Given the description of an element on the screen output the (x, y) to click on. 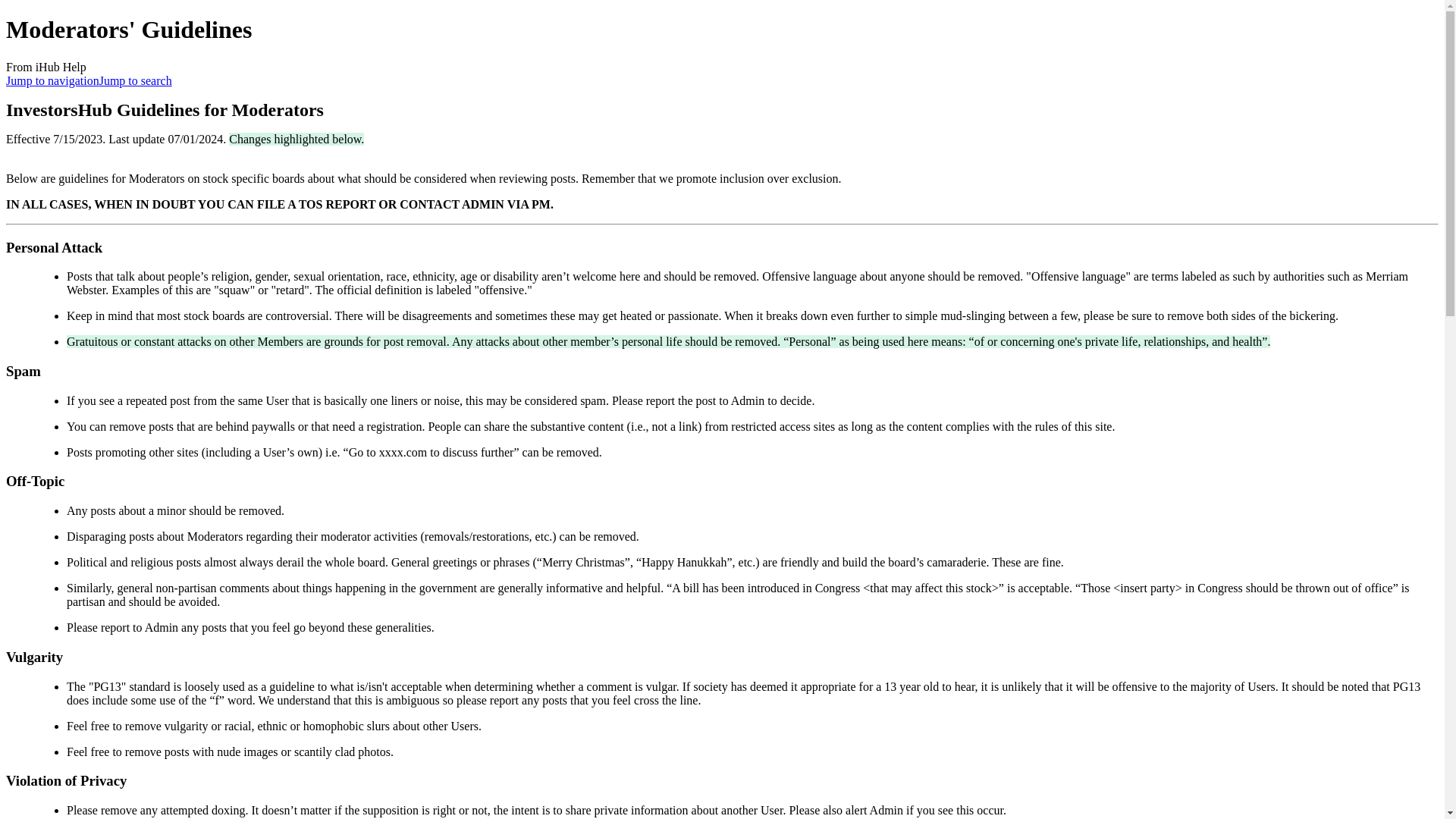
Jump to search (135, 80)
Jump to navigation (52, 80)
